Given the description of an element on the screen output the (x, y) to click on. 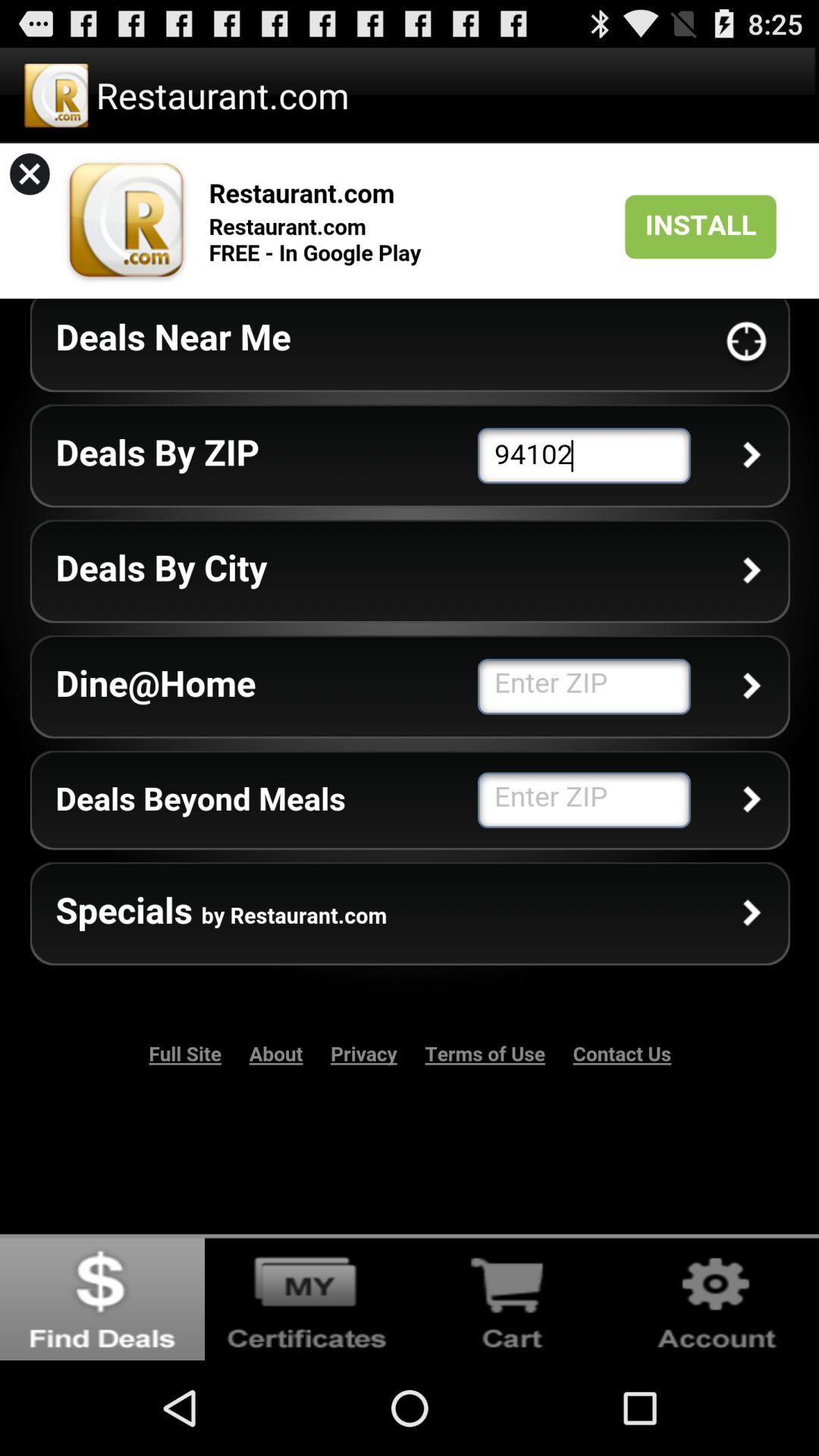
select the cart option (511, 1297)
